Given the description of an element on the screen output the (x, y) to click on. 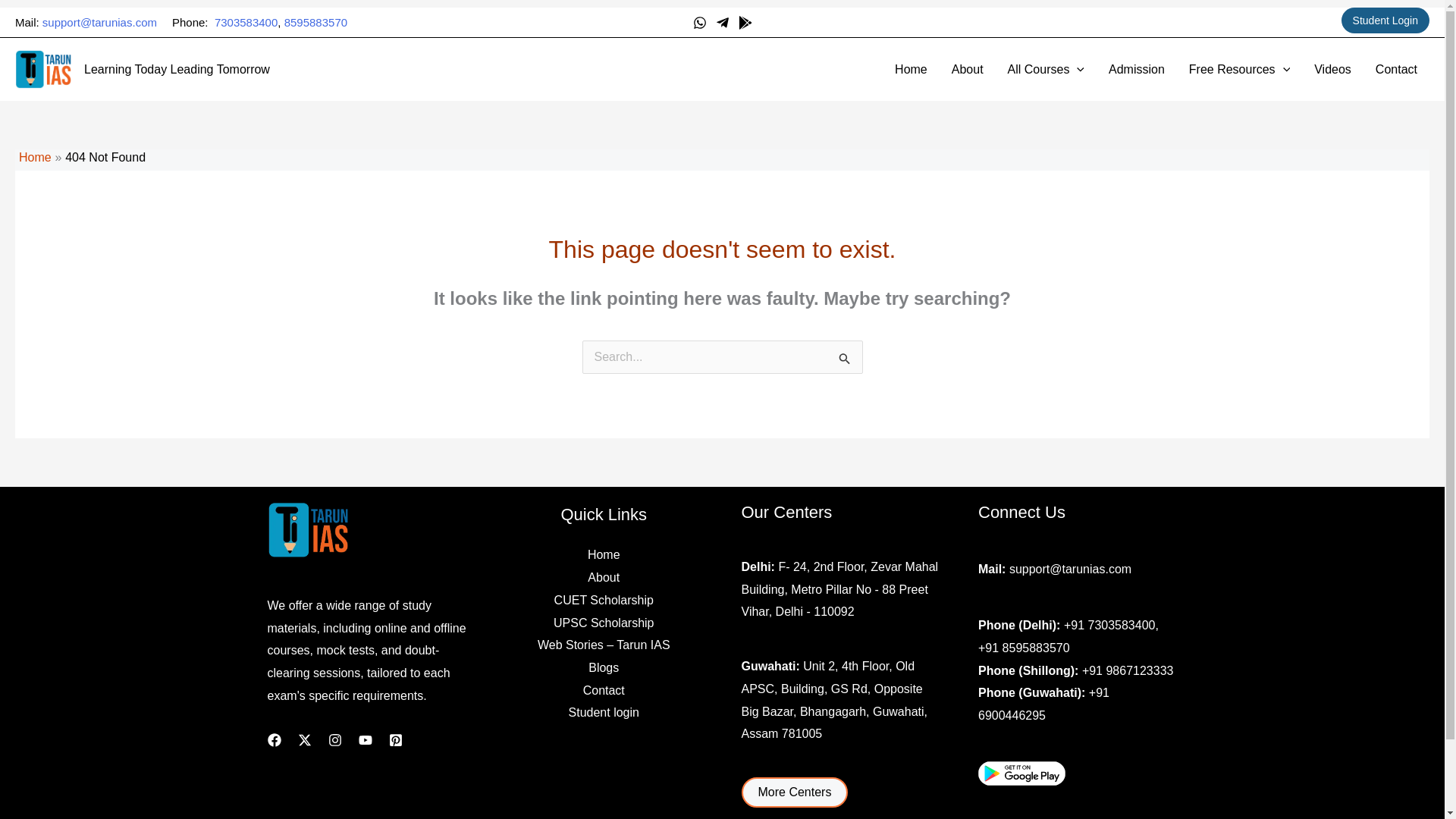
8595883570 (315, 21)
Home (34, 156)
About (967, 69)
7303583400 (246, 21)
Admission (1136, 69)
Student Login (1384, 20)
Free Resources (1238, 69)
Home (910, 69)
Contact (1395, 69)
All Courses (1045, 69)
Videos (1331, 69)
